Given the description of an element on the screen output the (x, y) to click on. 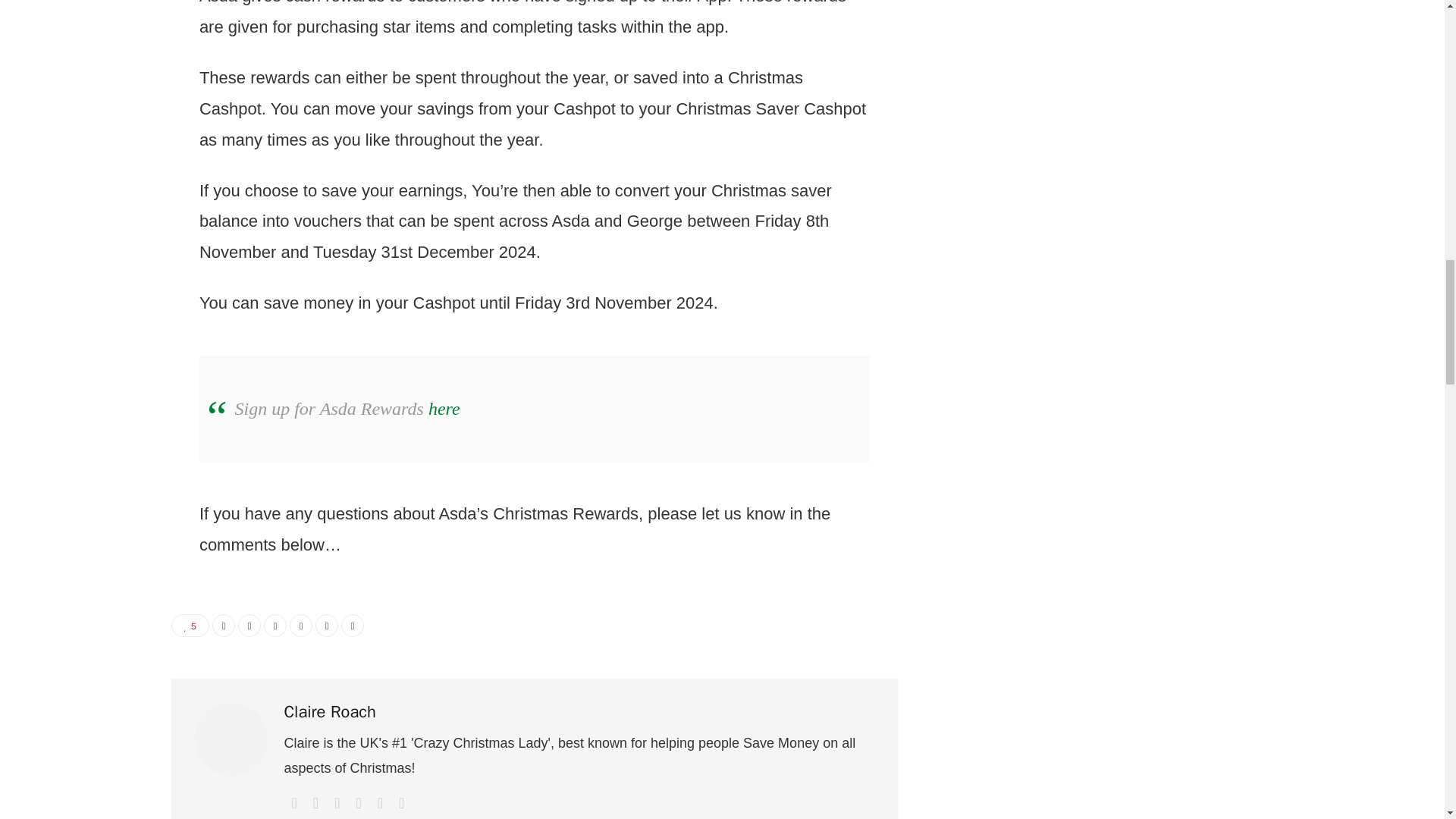
Share on Twitter (249, 625)
5 (190, 625)
here (444, 408)
Claire Roach (329, 712)
Pinterest (274, 625)
Share on Facebook (223, 625)
